Given the description of an element on the screen output the (x, y) to click on. 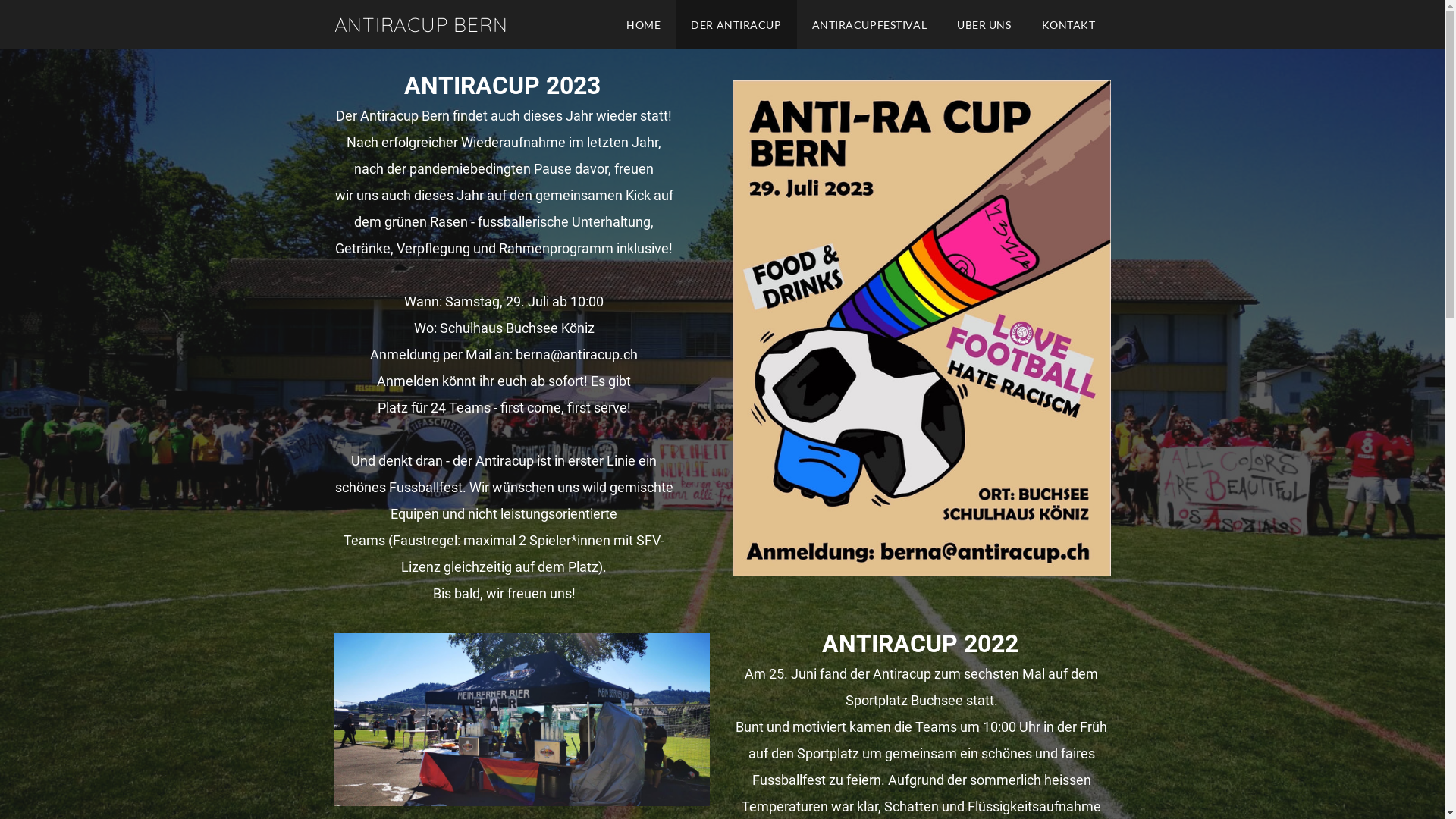
ANTIRACUPFESTIVAL Element type: text (869, 24)
ANTIRACUP BERN Element type: text (420, 24)
HOME Element type: text (643, 24)
KONTAKT Element type: text (1068, 24)
DER ANTIRACUP Element type: text (735, 24)
